Given the description of an element on the screen output the (x, y) to click on. 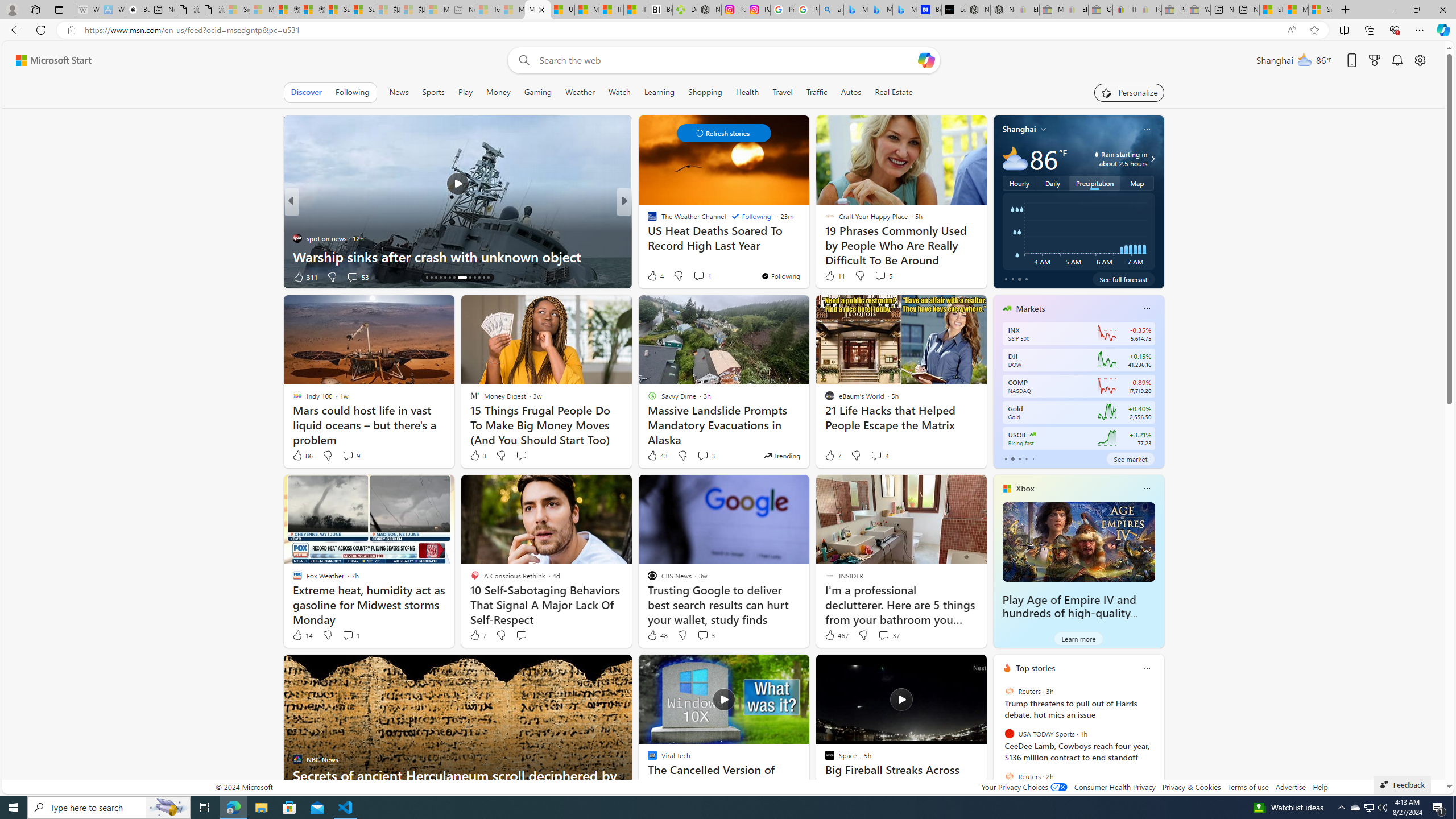
Reuters (1008, 775)
Microsoft Services Agreement - Sleeping (261, 9)
The Cool Down (647, 219)
Mostly cloudy (1014, 158)
next (1158, 741)
BBC (647, 219)
You're following MSNBC (253, 279)
Sign in to your Microsoft account - Sleeping (236, 9)
View comments 11 Comment (6, 276)
43 Like (657, 455)
